Given the description of an element on the screen output the (x, y) to click on. 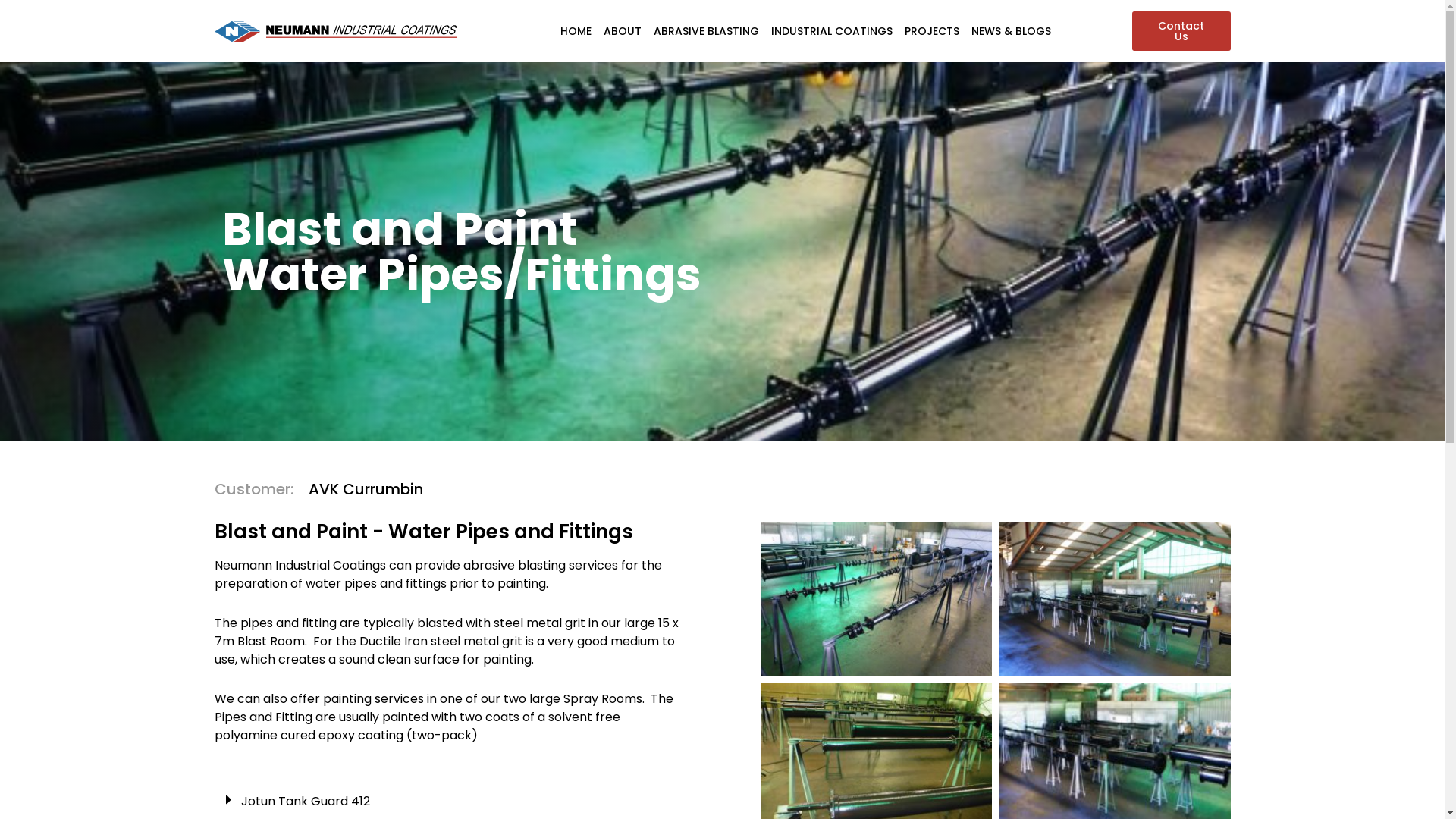
INDUSTRIAL COATINGS Element type: text (831, 30)
ABRASIVE BLASTING Element type: text (706, 30)
Jotun Tank Guard 412 Element type: text (305, 800)
ABOUT Element type: text (622, 30)
PROJECTS Element type: text (931, 30)
NEWS & BLOGS Element type: text (1011, 30)
HOME Element type: text (575, 30)
Contact Us Element type: text (1180, 30)
